Given the description of an element on the screen output the (x, y) to click on. 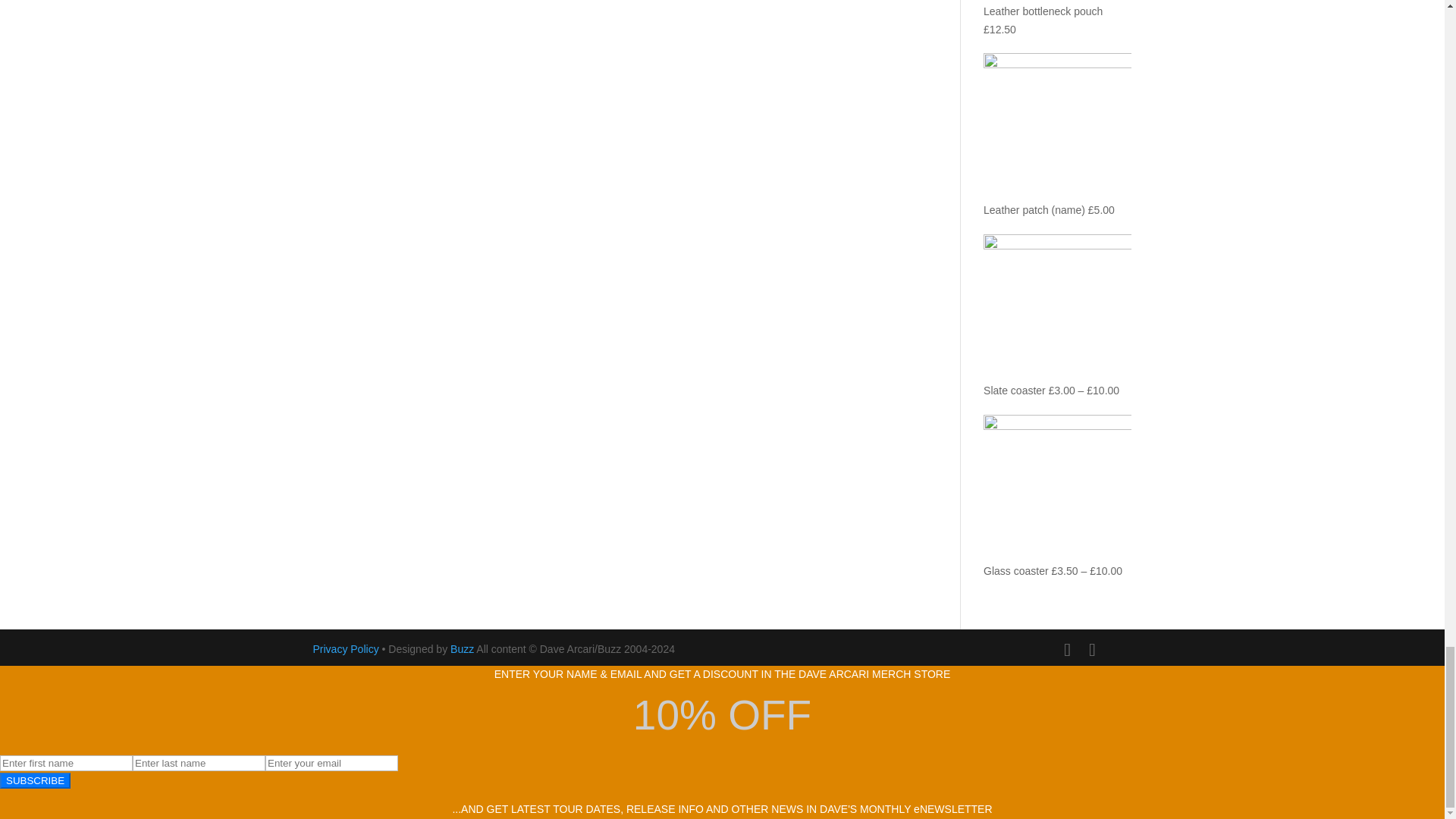
Glass coaster (1057, 498)
Slate coaster (1057, 317)
Leather bottleneck pouch (1057, 8)
